Given the description of an element on the screen output the (x, y) to click on. 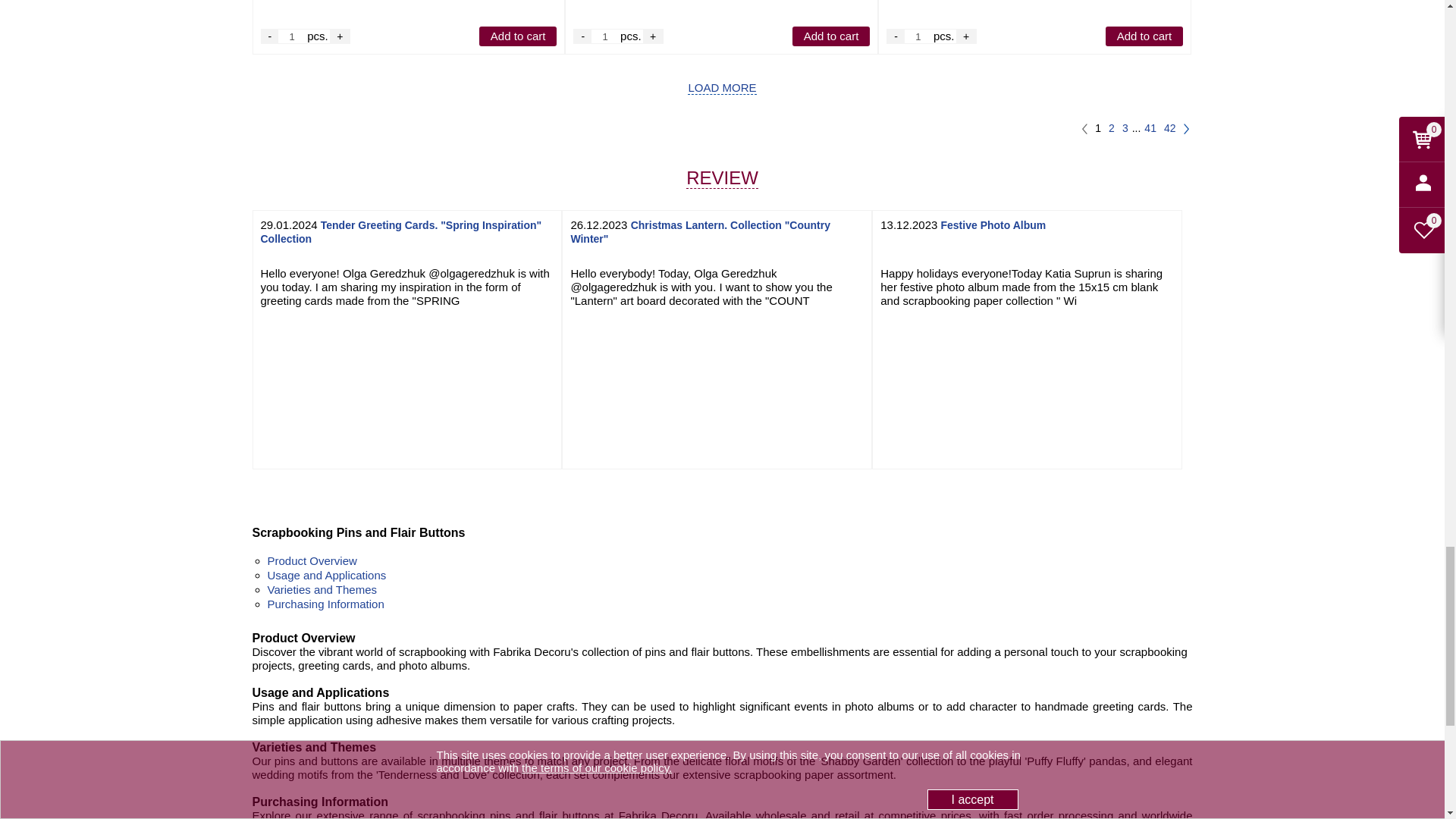
1 (604, 36)
1 (291, 36)
1 (917, 36)
